Given the description of an element on the screen output the (x, y) to click on. 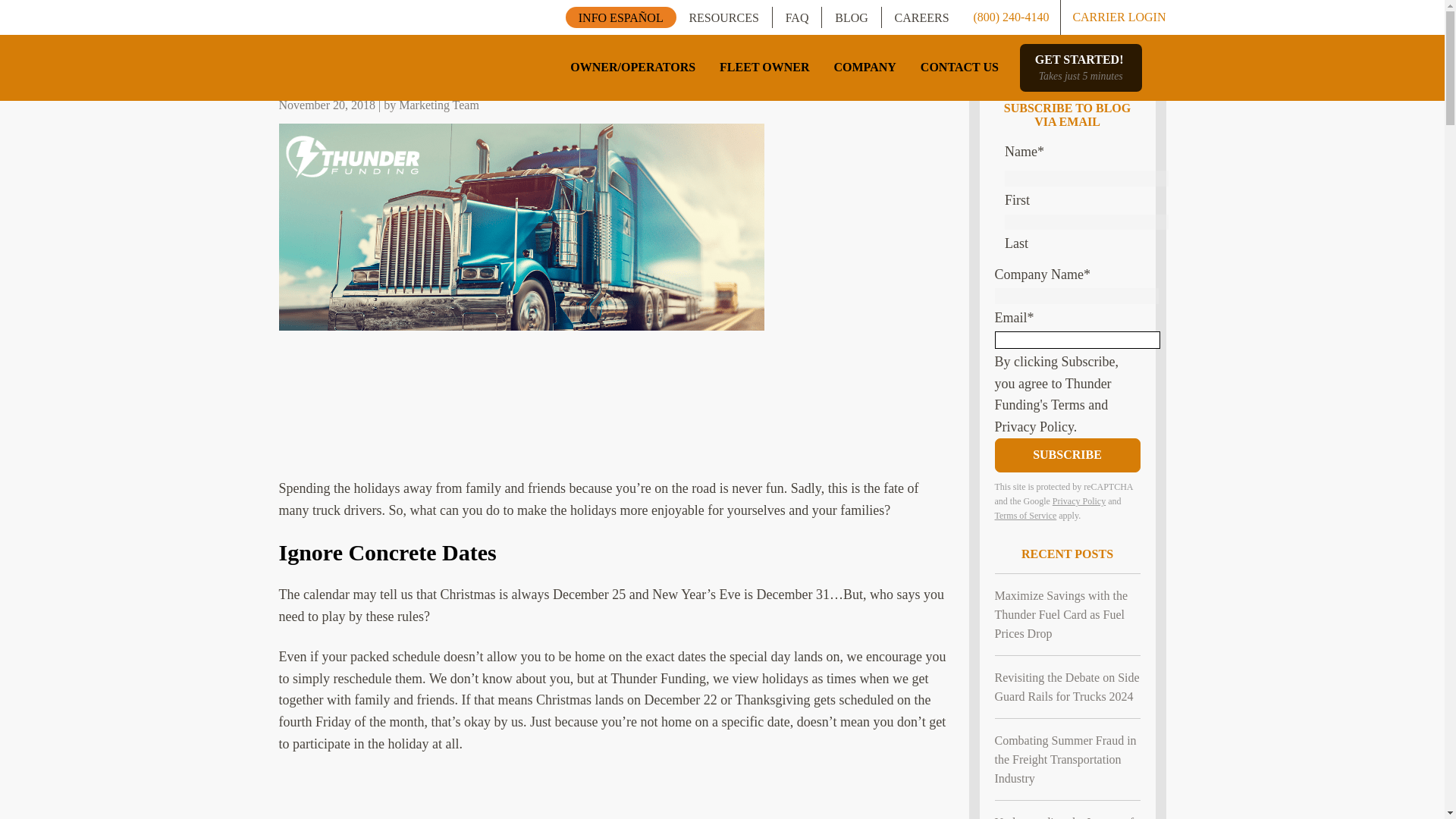
CAREERS (922, 17)
FAQ (797, 17)
CONTACT US (1080, 67)
CARRIER LOGIN (959, 67)
BLOG (1113, 17)
FLEET OWNER (850, 17)
RESOURCES (764, 67)
COMPANY (723, 17)
